Given the description of an element on the screen output the (x, y) to click on. 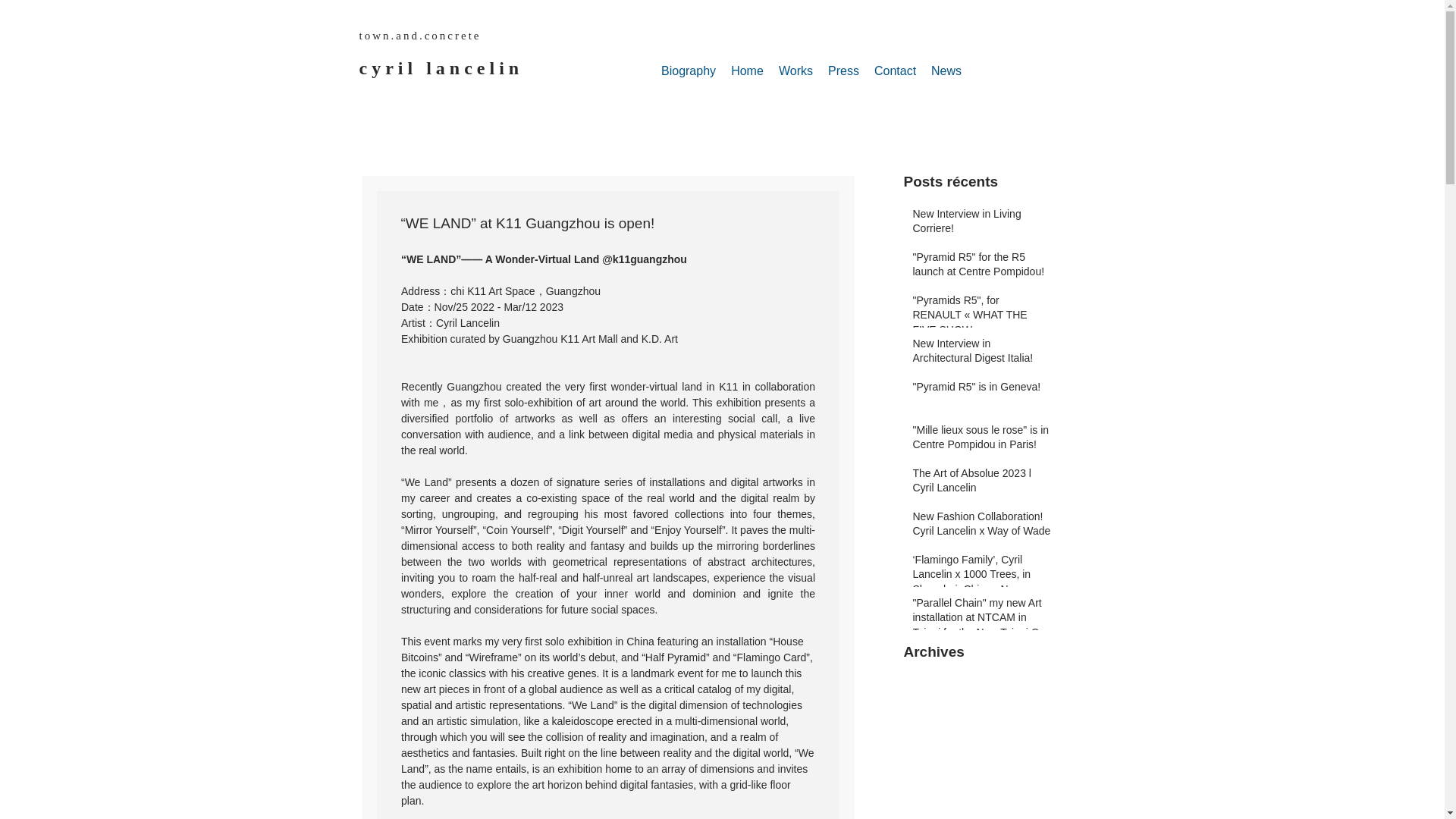
The Art of Absolue 2023 l Cyril Lancelin (981, 484)
Contact (894, 70)
New Interview in Architectural Digest Italia! (981, 354)
New Interview in Living Corriere! (981, 224)
Biography (688, 70)
Press (843, 70)
New Fashion Collaboration! Cyril Lancelin x Way of Wade (981, 527)
cyril lancelin (441, 67)
Works (796, 70)
town.and.concrete (420, 35)
"Mille lieux sous le rose" is in Centre Pompidou in Paris! (981, 440)
"Pyramid R5" is in Geneva! (981, 390)
Home (747, 70)
"Pyramid R5" for the R5 launch at Centre Pompidou! (981, 267)
